Given the description of an element on the screen output the (x, y) to click on. 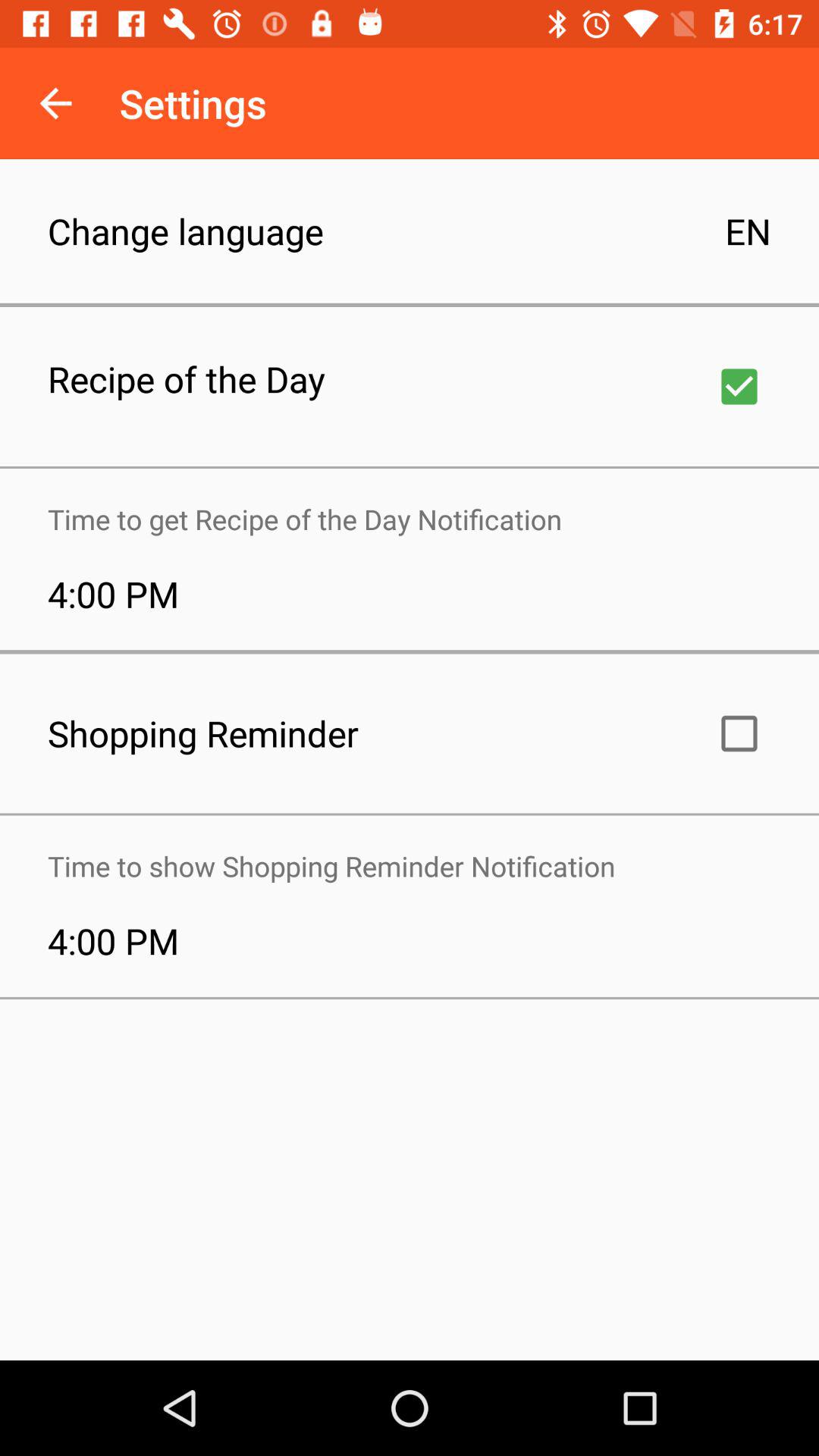
turn on shopping reminder notifications (739, 733)
